Given the description of an element on the screen output the (x, y) to click on. 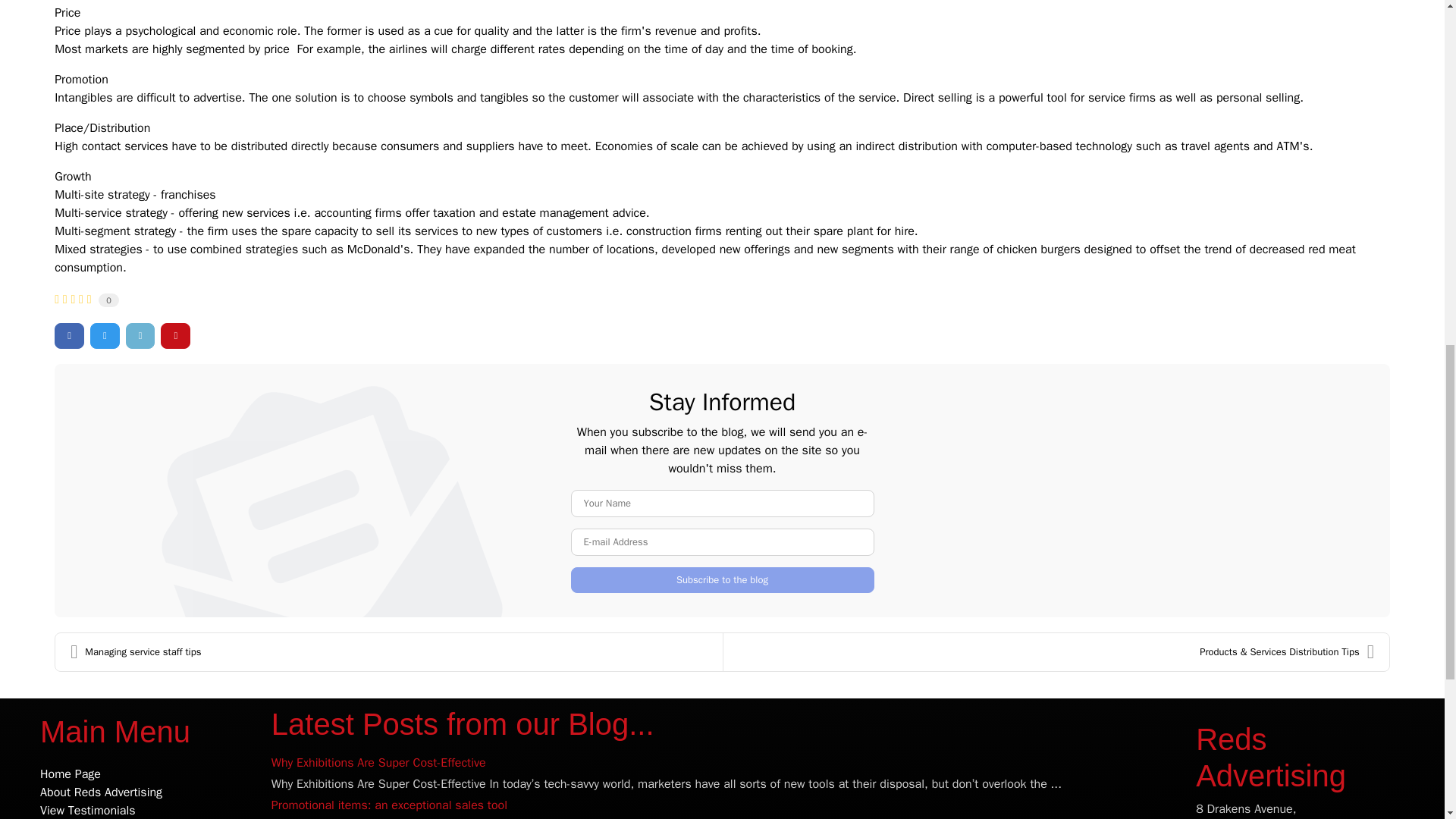
Not rated yet! (72, 299)
Promotional items: an exceptional sales tool (388, 805)
Why Exhibitions Are Super Cost-Effective (378, 762)
0 votes (109, 300)
